Given the description of an element on the screen output the (x, y) to click on. 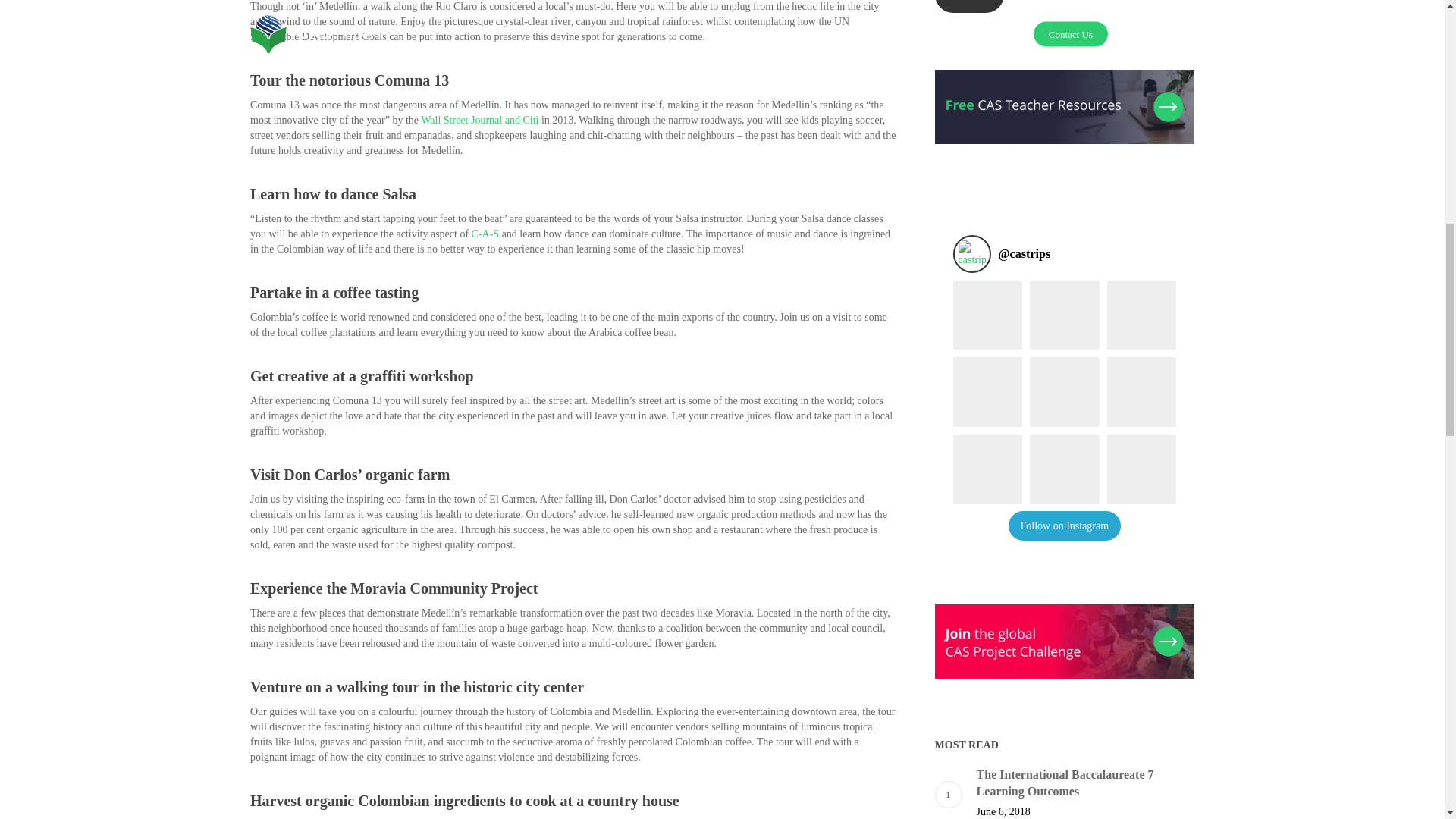
Sign up (969, 6)
C-A-S (485, 233)
Wall Street Journal and Citi (479, 120)
